Given the description of an element on the screen output the (x, y) to click on. 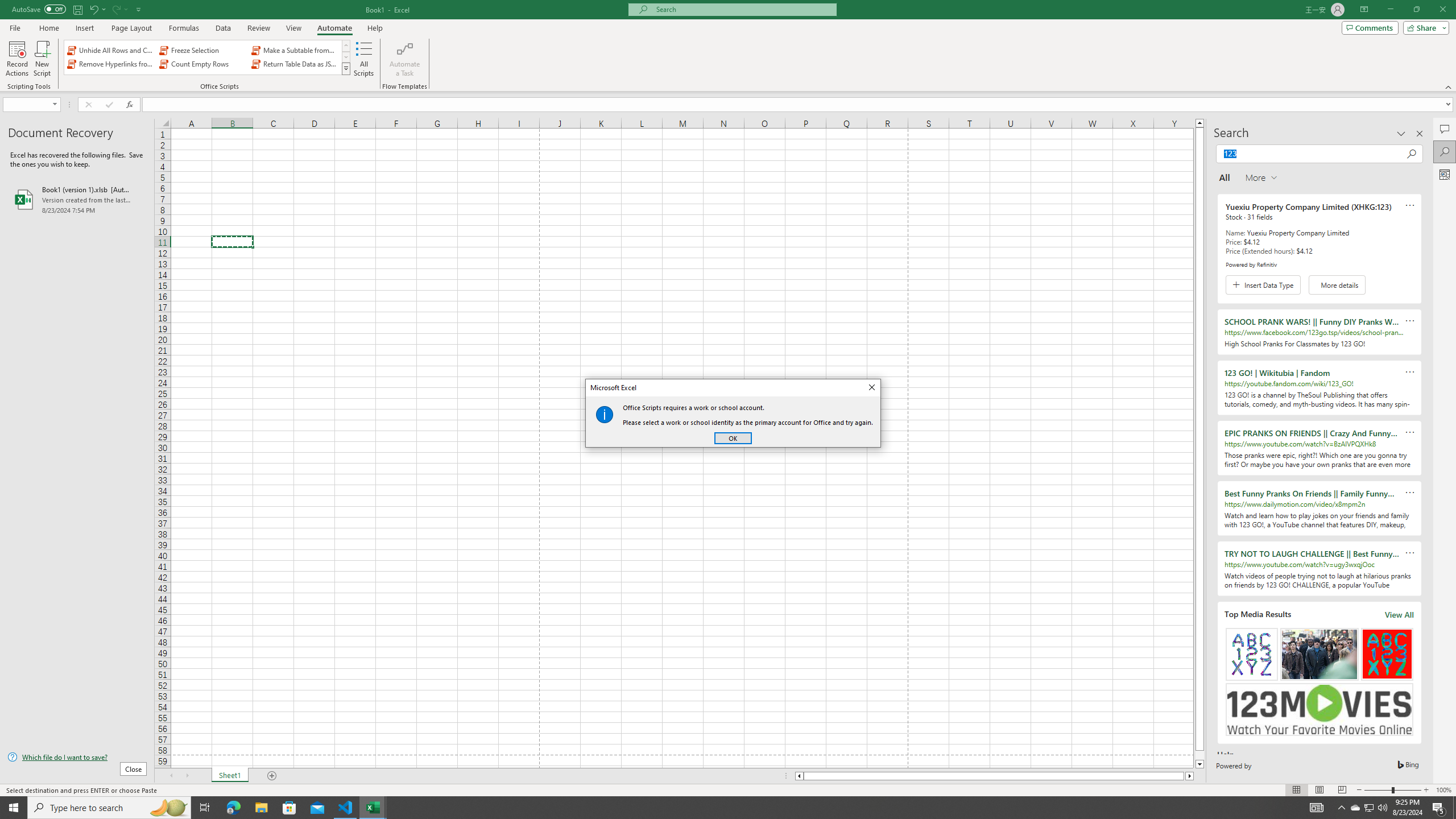
Excel - 2 running windows (373, 807)
Class: Static (603, 414)
New Script (41, 58)
Visual Studio Code - 1 running window (345, 807)
Action Center, 5 new notifications (1439, 807)
